Given the description of an element on the screen output the (x, y) to click on. 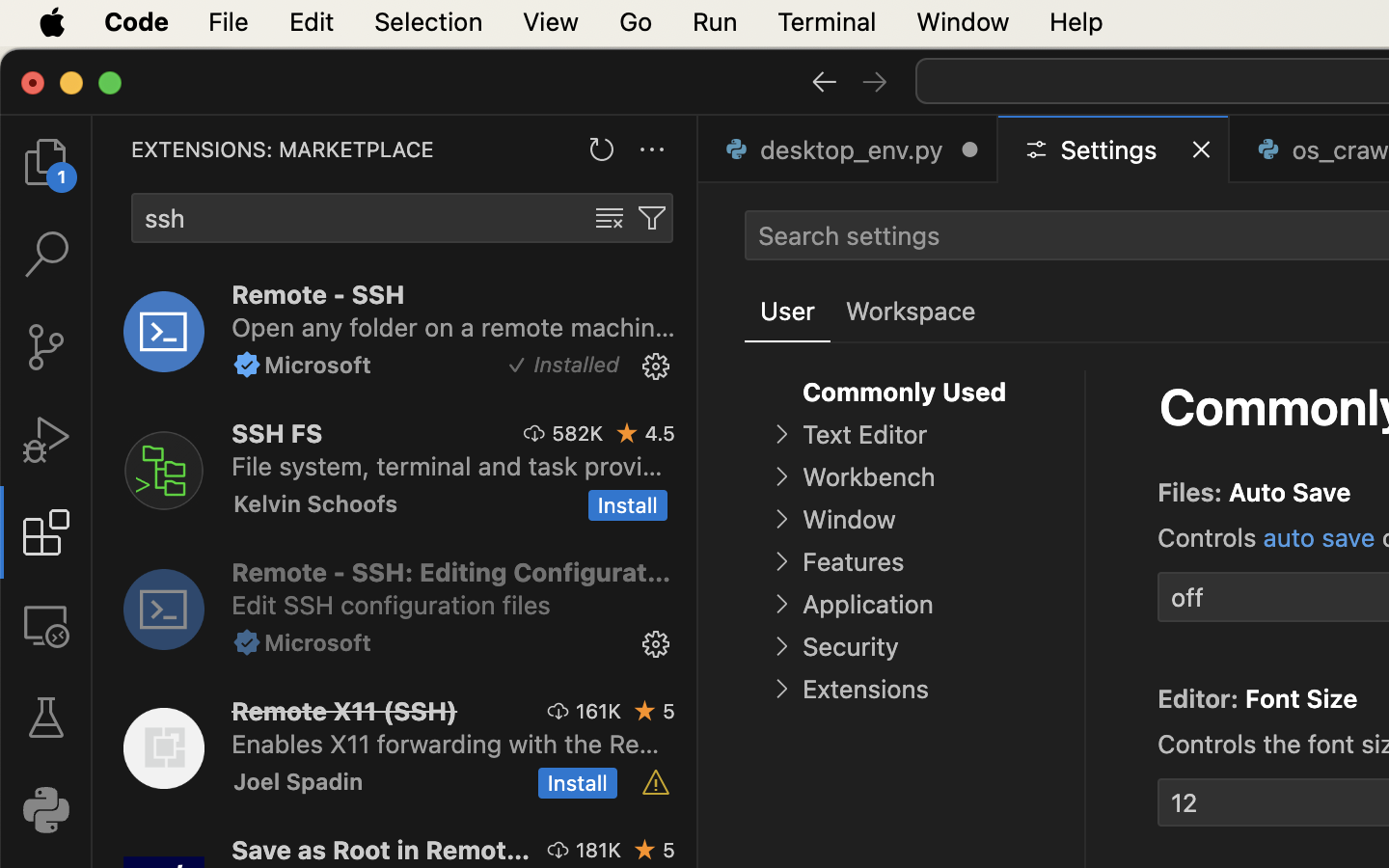
Joel Spadin Element type: AXStaticText (298, 780)
Open any folder on a remote machine using SSH and take advantage of VS Code's full feature set. Element type: AXStaticText (453, 326)
Font Size Element type: AXStaticText (1301, 698)
Remote - SSH Element type: AXStaticText (318, 293)
 Element type: AXStaticText (651, 217)
